Given the description of an element on the screen output the (x, y) to click on. 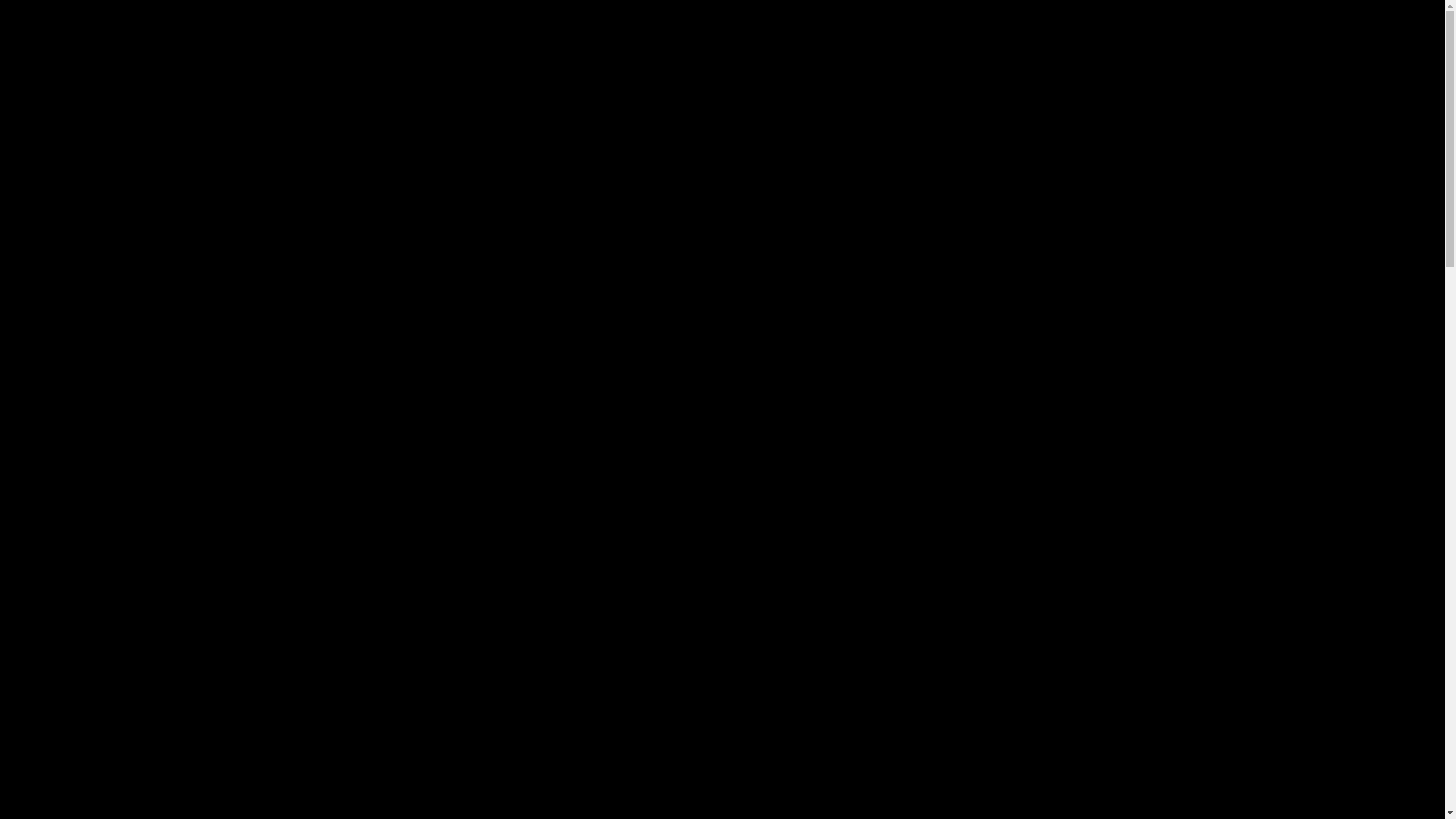
Parenting room Element type: text (487, 745)
PRAYER Element type: text (969, 42)
click here Element type: text (794, 750)
MINISTRIES Element type: text (806, 42)
SERMONS Element type: text (1055, 42)
click here Element type: text (1089, 750)
MAINLY MUSIC Element type: text (1164, 42)
HOME Element type: text (721, 42)
CONTACT Element type: text (1343, 42)
ABOUT Element type: text (894, 42)
mainly-music Element type: hover (928, 723)
GIVING Element type: text (1262, 42)
